Given the description of an element on the screen output the (x, y) to click on. 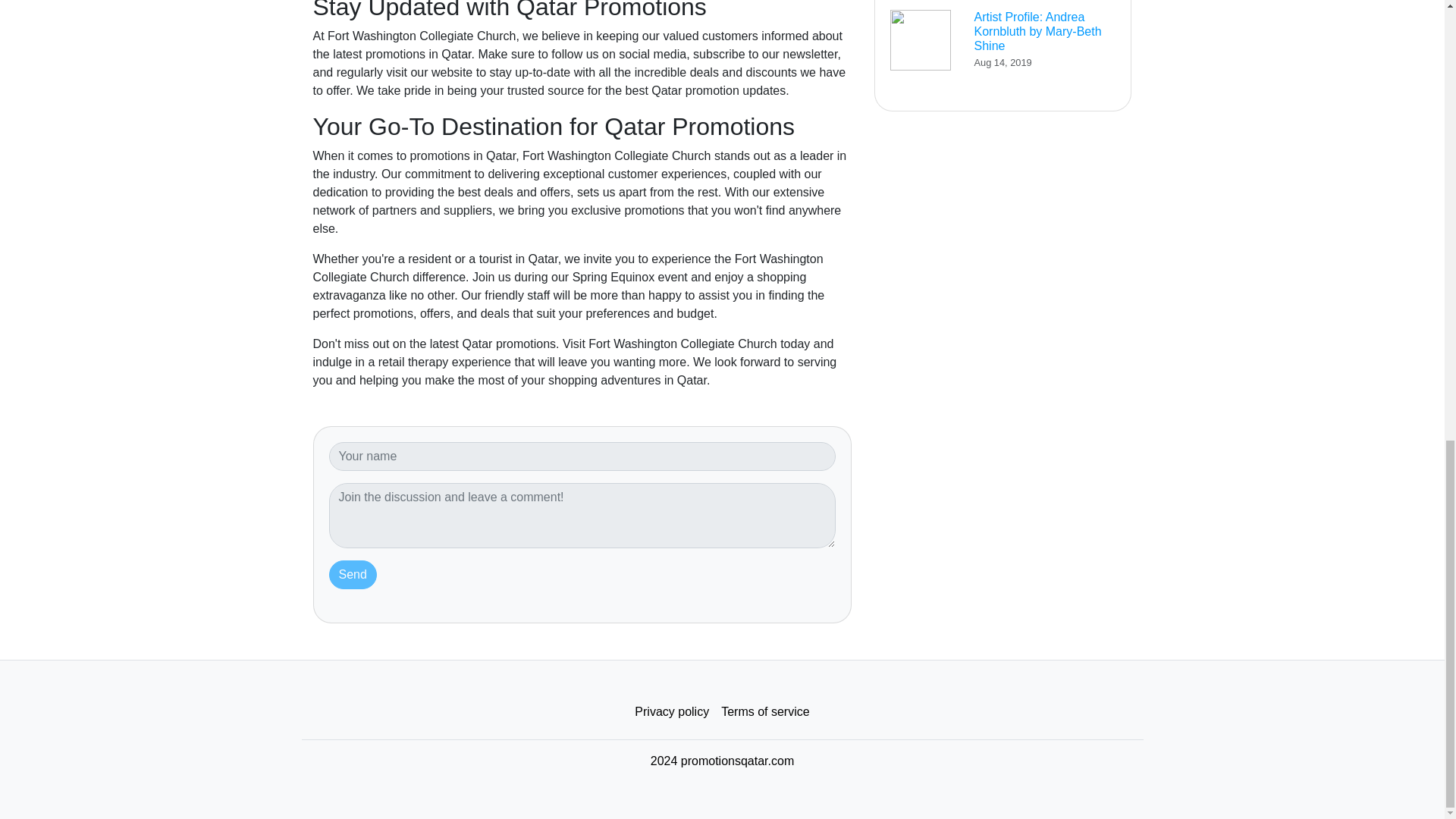
Terms of service (764, 711)
Send (353, 574)
Privacy policy (671, 711)
Send (353, 574)
